Given the description of an element on the screen output the (x, y) to click on. 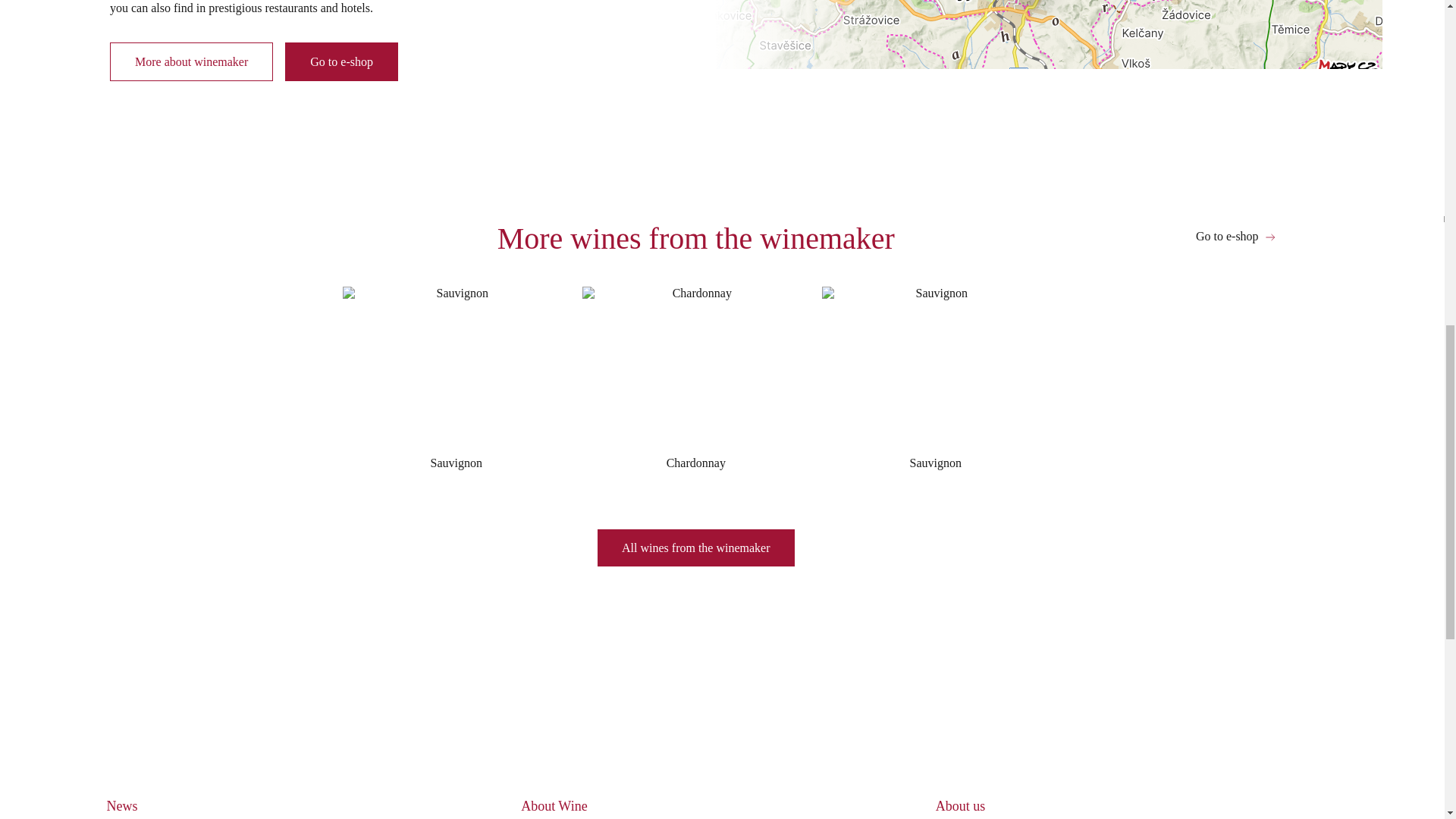
Sauvignon (456, 383)
More about winemaker (191, 61)
Go to e-shop (341, 61)
Chardonnay (695, 383)
All wines from the winemaker (695, 547)
Go to e-shop (1235, 236)
Seznam.cz, a.s. (721, 73)
Sauvignon (935, 383)
Irsai Oliver (1035, 2)
